Given the description of an element on the screen output the (x, y) to click on. 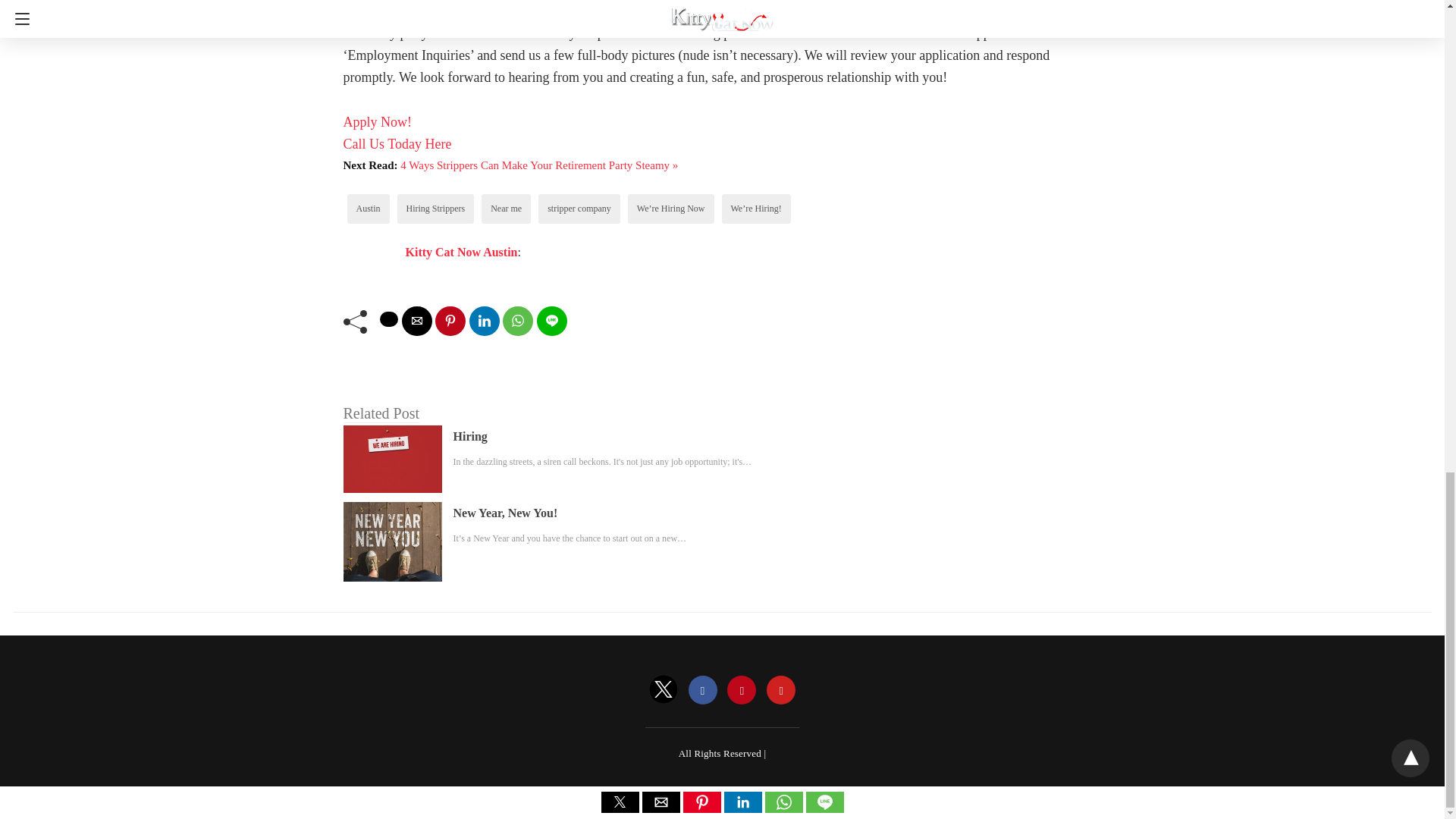
facebook profile (702, 690)
whatsapp share (517, 320)
youtube profile (780, 690)
Call Us Today Here (396, 143)
Near me (505, 208)
twitter profile (663, 690)
stripper company (579, 208)
linkedin share (483, 320)
New Year, New You! (504, 512)
pinterest share (450, 320)
mailto (416, 320)
Hiring (469, 435)
Kitty Cat Now Austin (460, 251)
Hiring Strippers (435, 208)
Austin (368, 208)
